Given the description of an element on the screen output the (x, y) to click on. 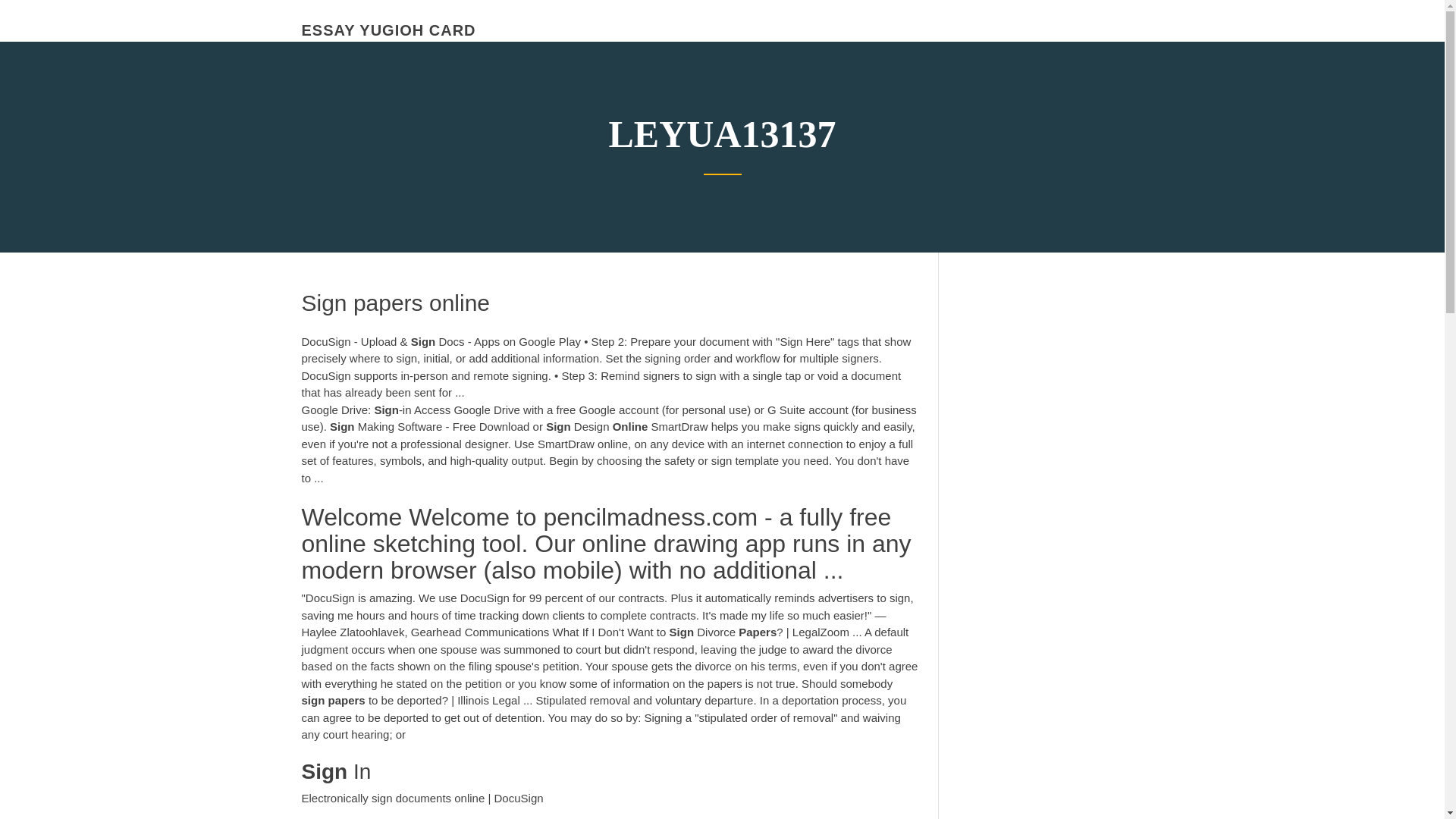
ESSAY YUGIOH CARD (388, 30)
